Given the description of an element on the screen output the (x, y) to click on. 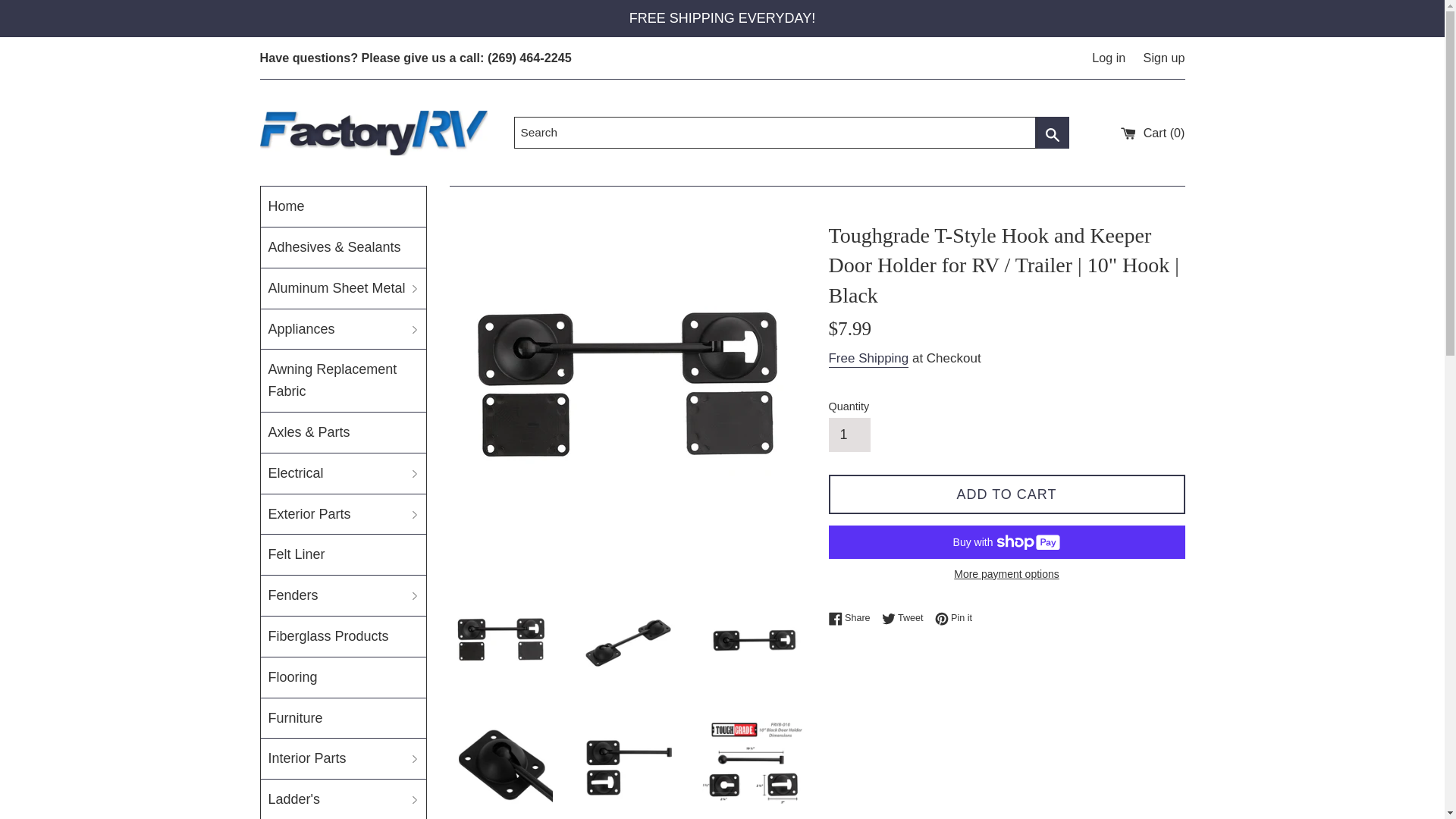
Appliances (343, 329)
Aluminum Sheet Metal (343, 288)
Log in (1108, 57)
Sign up (1163, 57)
Search (1051, 132)
Share on Facebook (852, 617)
Tweet on Twitter (906, 617)
Home (343, 206)
1 (848, 434)
Awning Replacement Fabric (343, 380)
Pin on Pinterest (953, 617)
Exterior Parts (343, 514)
Electrical (343, 473)
